Given the description of an element on the screen output the (x, y) to click on. 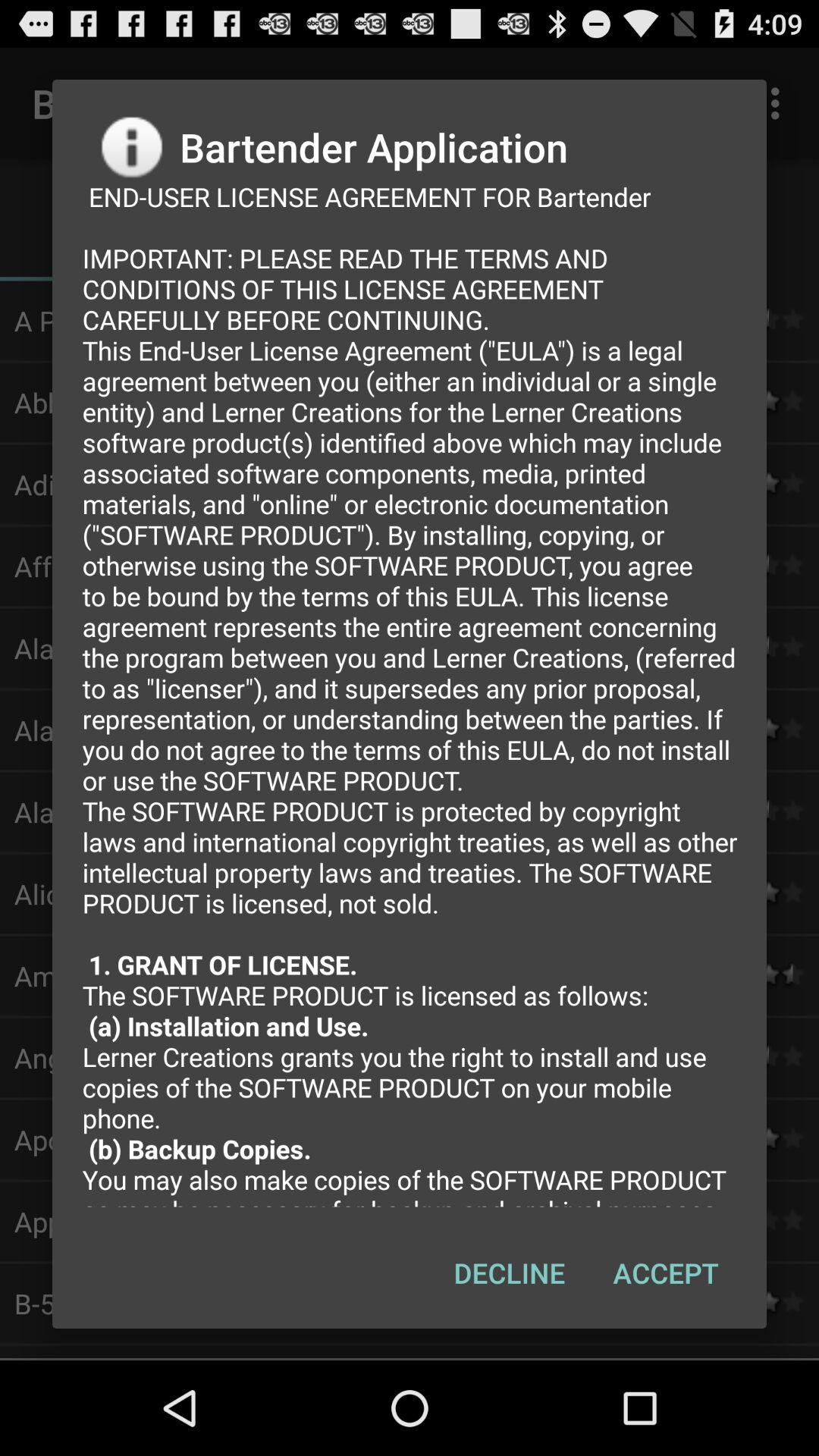
launch the decline item (509, 1272)
